Given the description of an element on the screen output the (x, y) to click on. 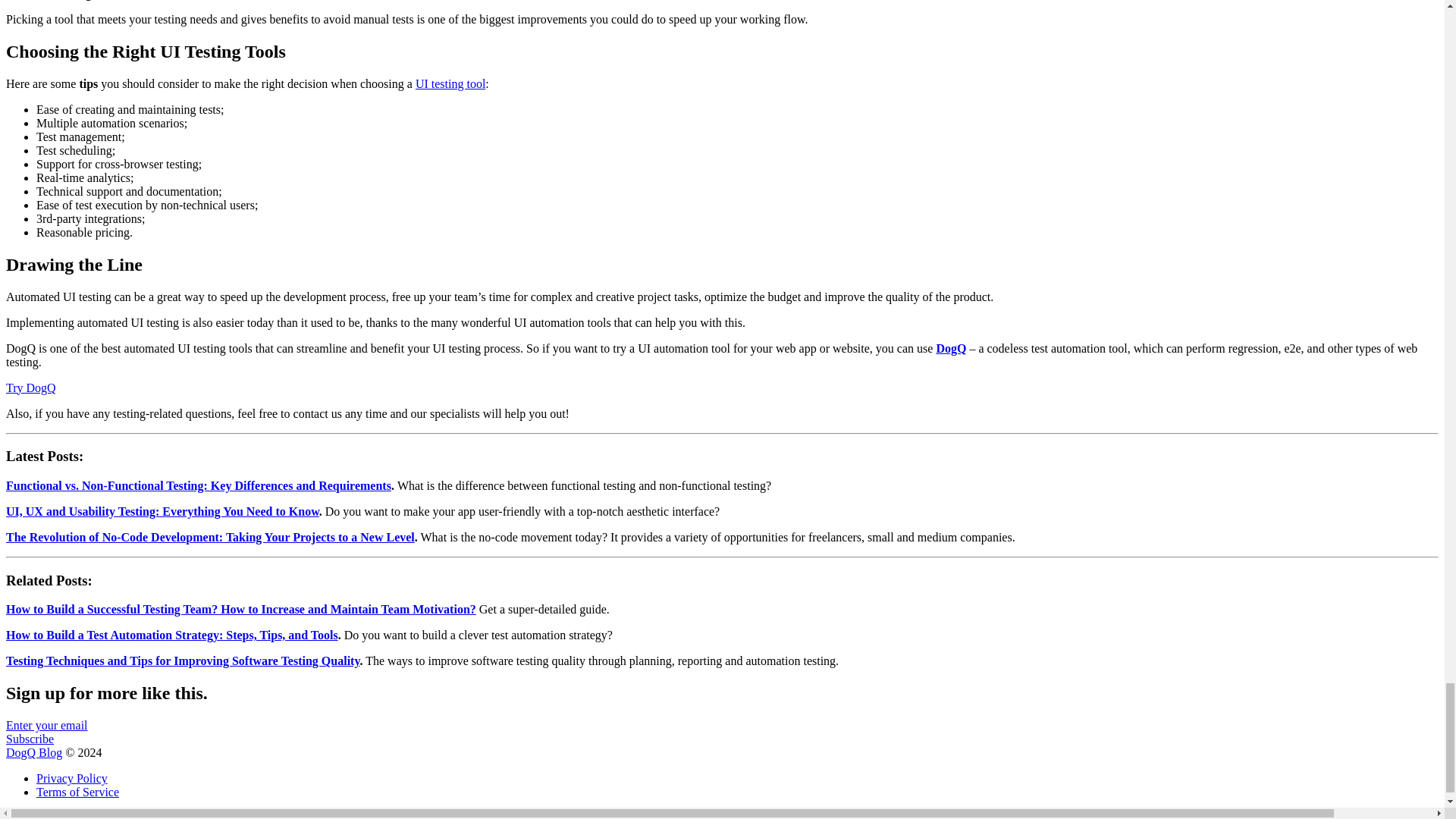
Terms of Service (77, 791)
DogQ Blog (33, 752)
DogQ (951, 348)
Privacy Policy (71, 778)
Try DogQ (721, 732)
